Given the description of an element on the screen output the (x, y) to click on. 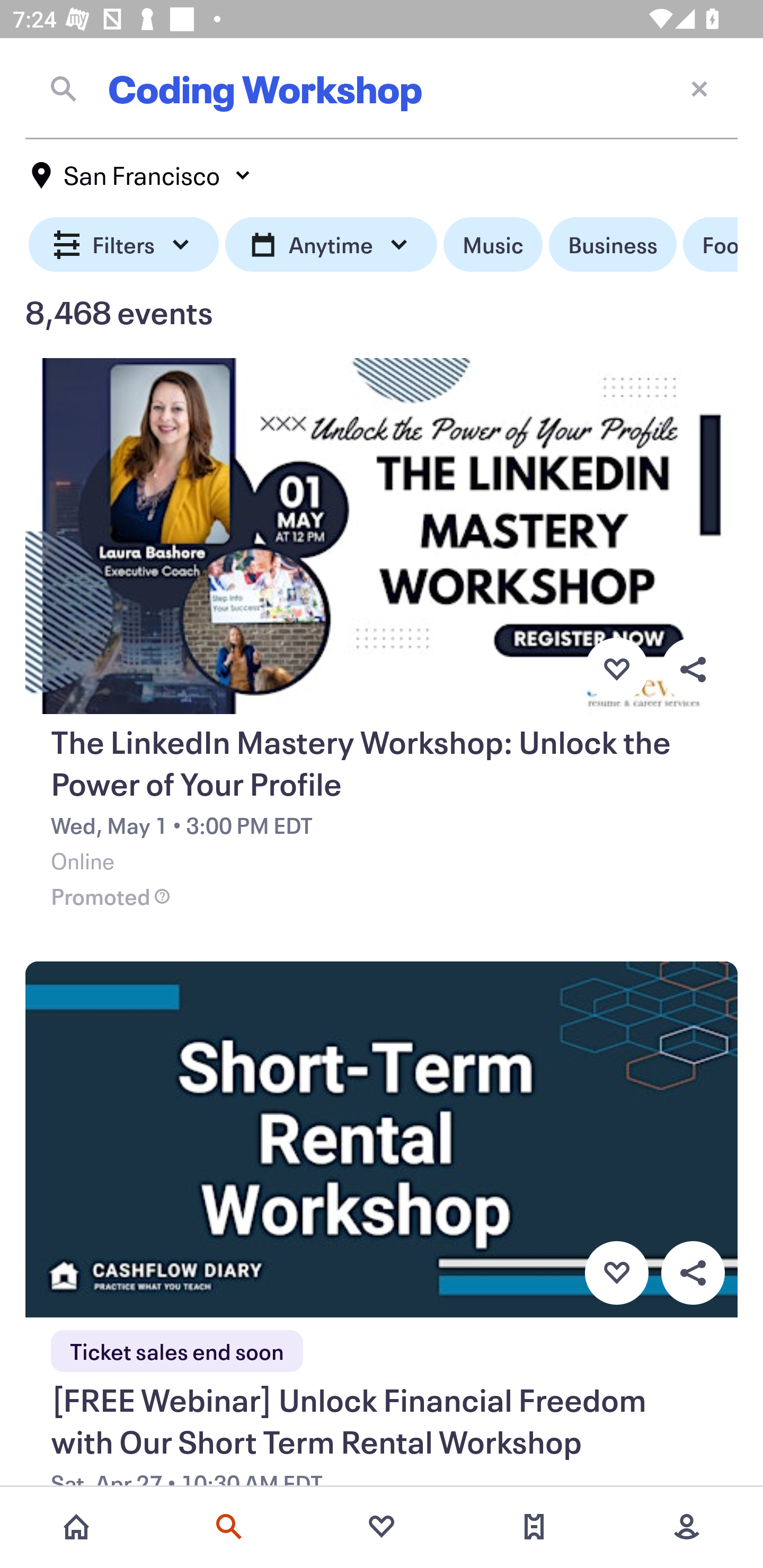
Coding Workshop Close current screen (381, 88)
Close current screen (699, 88)
San Francisco (141, 175)
Filters (123, 244)
Anytime (331, 244)
Music (492, 244)
Business (612, 244)
Favorite button (616, 669)
Overflow menu button (692, 669)
Favorite button (616, 1272)
Overflow menu button (692, 1272)
Home (76, 1526)
Search events (228, 1526)
Favorites (381, 1526)
Tickets (533, 1526)
More (686, 1526)
